Given the description of an element on the screen output the (x, y) to click on. 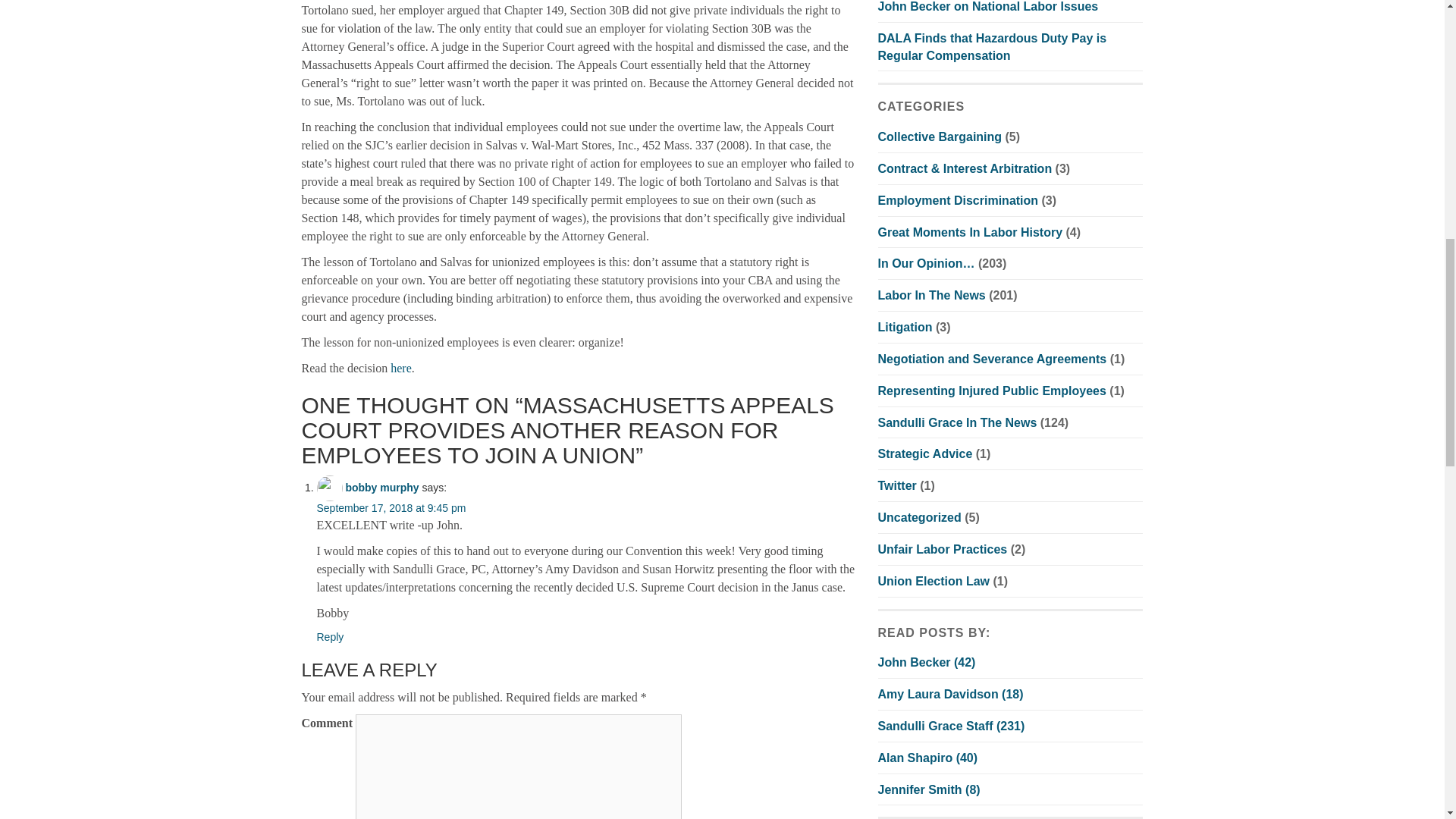
Reply (330, 636)
View Alan Shapiro archive (927, 757)
View Amy Laura Davidson archive (950, 694)
Negotiation and Severance Agreements (991, 358)
bobby murphy (382, 487)
DALA Finds that Hazardous Duty Pay is Regular Compensation (991, 46)
September 17, 2018 at 9:45 pm (391, 508)
John Becker on National Labor Issues (988, 6)
Great Moments In Labor History (969, 232)
Representing Injured Public Employees (991, 390)
